Given the description of an element on the screen output the (x, y) to click on. 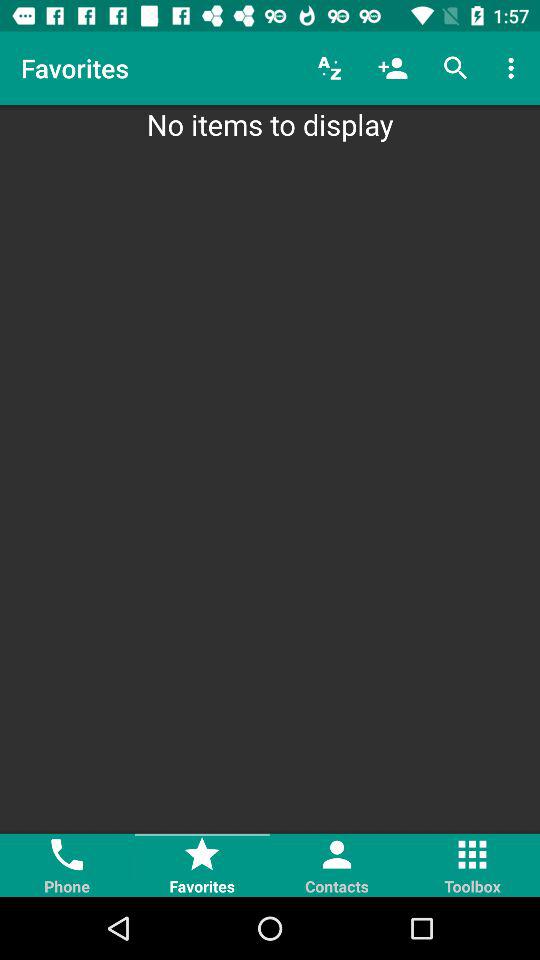
choose icon to the right of the favorites item (329, 67)
